Given the description of an element on the screen output the (x, y) to click on. 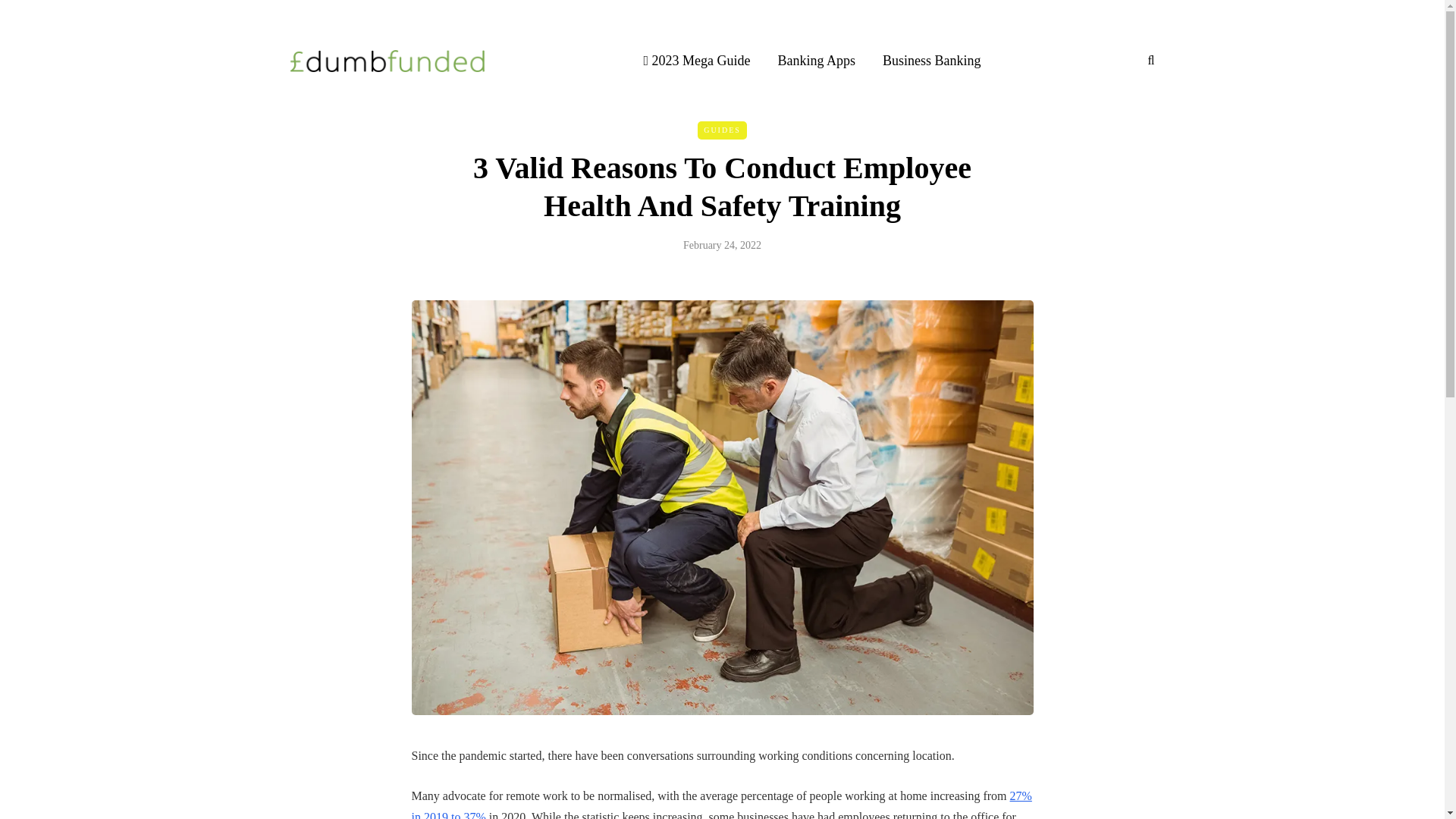
Banking Apps (816, 60)
Search (43, 15)
Business Banking (931, 60)
GUIDES (721, 130)
